Given the description of an element on the screen output the (x, y) to click on. 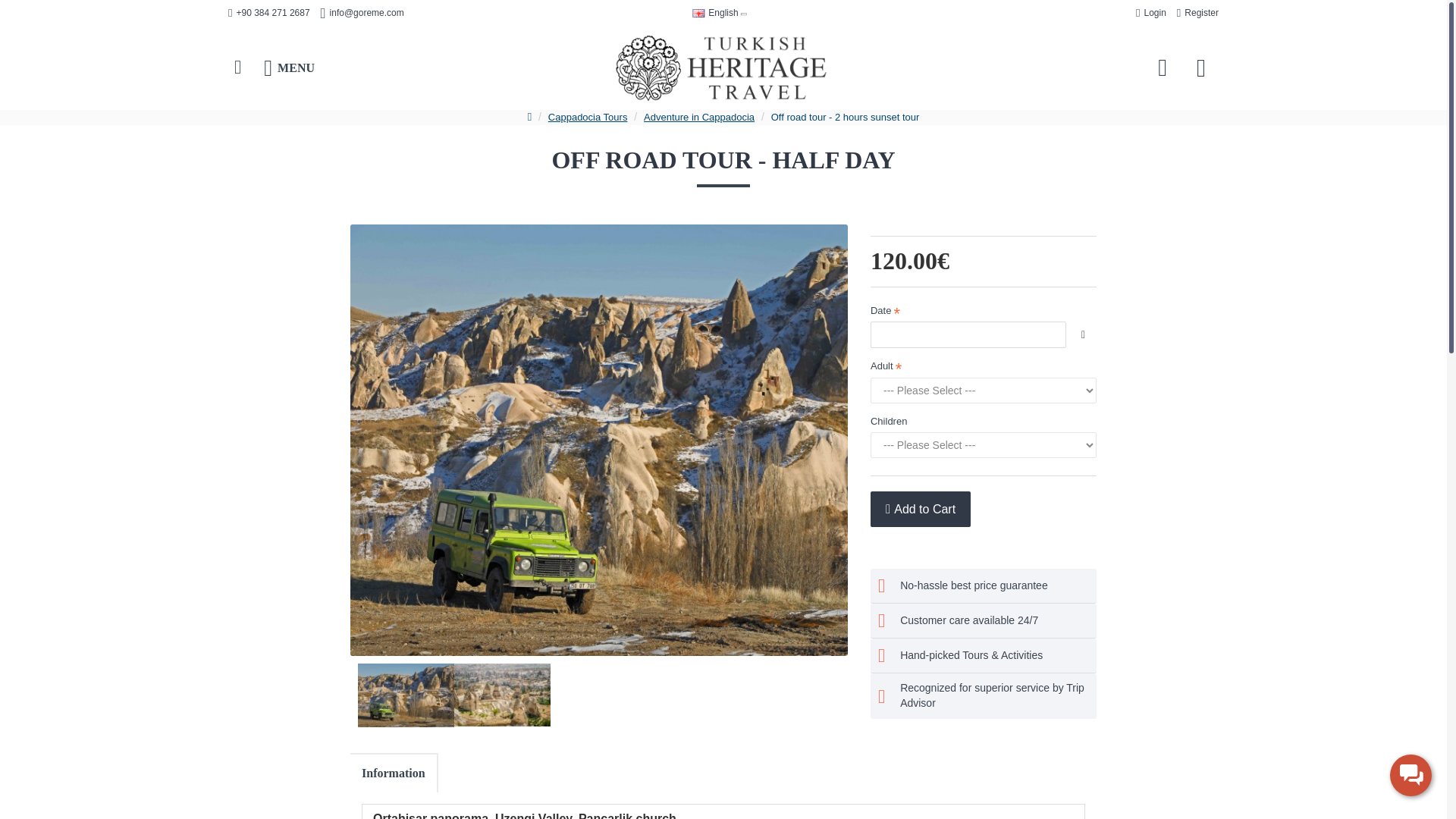
Login (1151, 13)
Off road tour - half day (406, 695)
MENU (288, 67)
English (715, 12)
English (698, 13)
Off road tour - half day (502, 695)
Register (1198, 13)
Turkish Heritage Travel (721, 68)
